Given the description of an element on the screen output the (x, y) to click on. 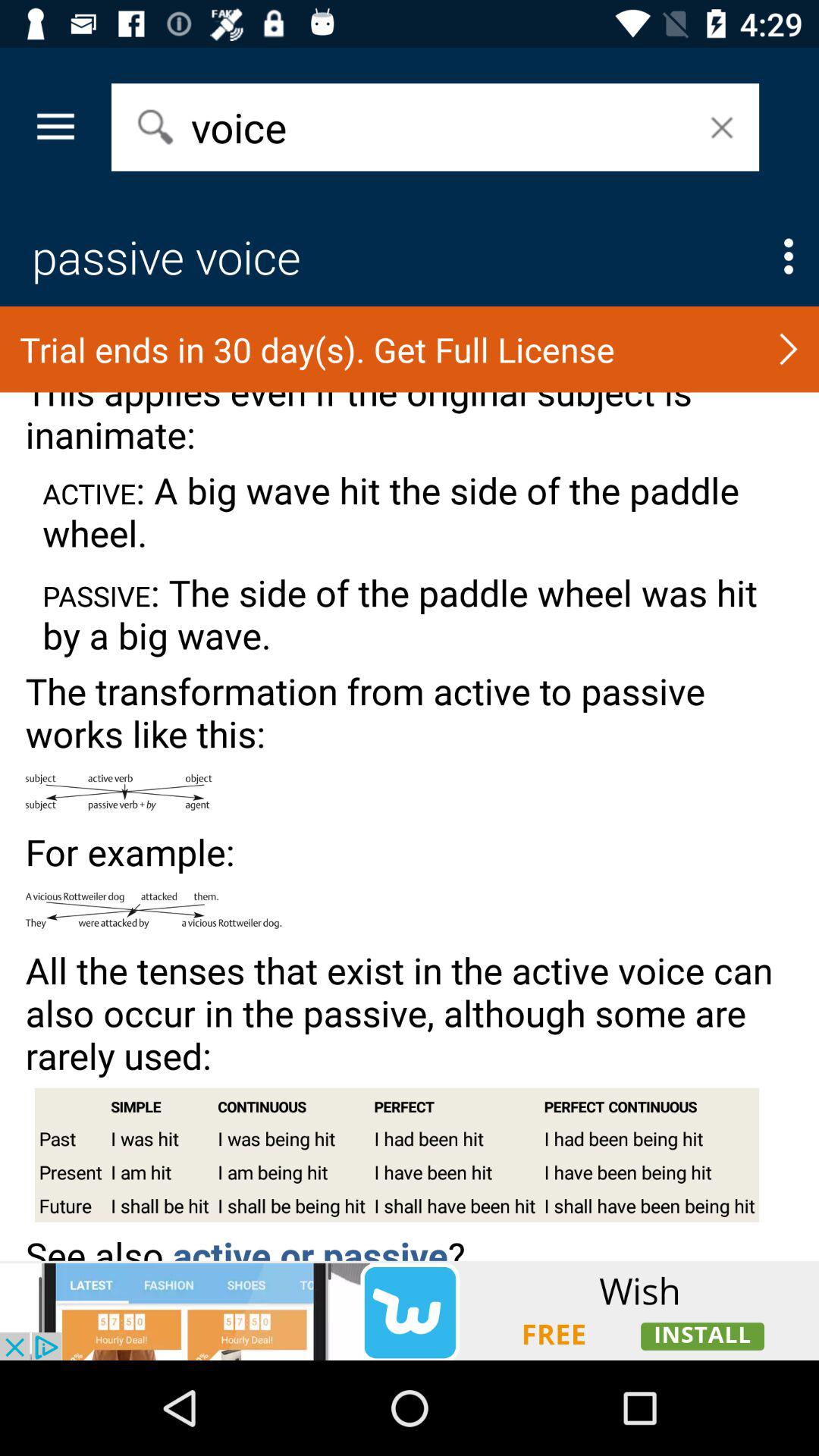
more information (788, 256)
